Given the description of an element on the screen output the (x, y) to click on. 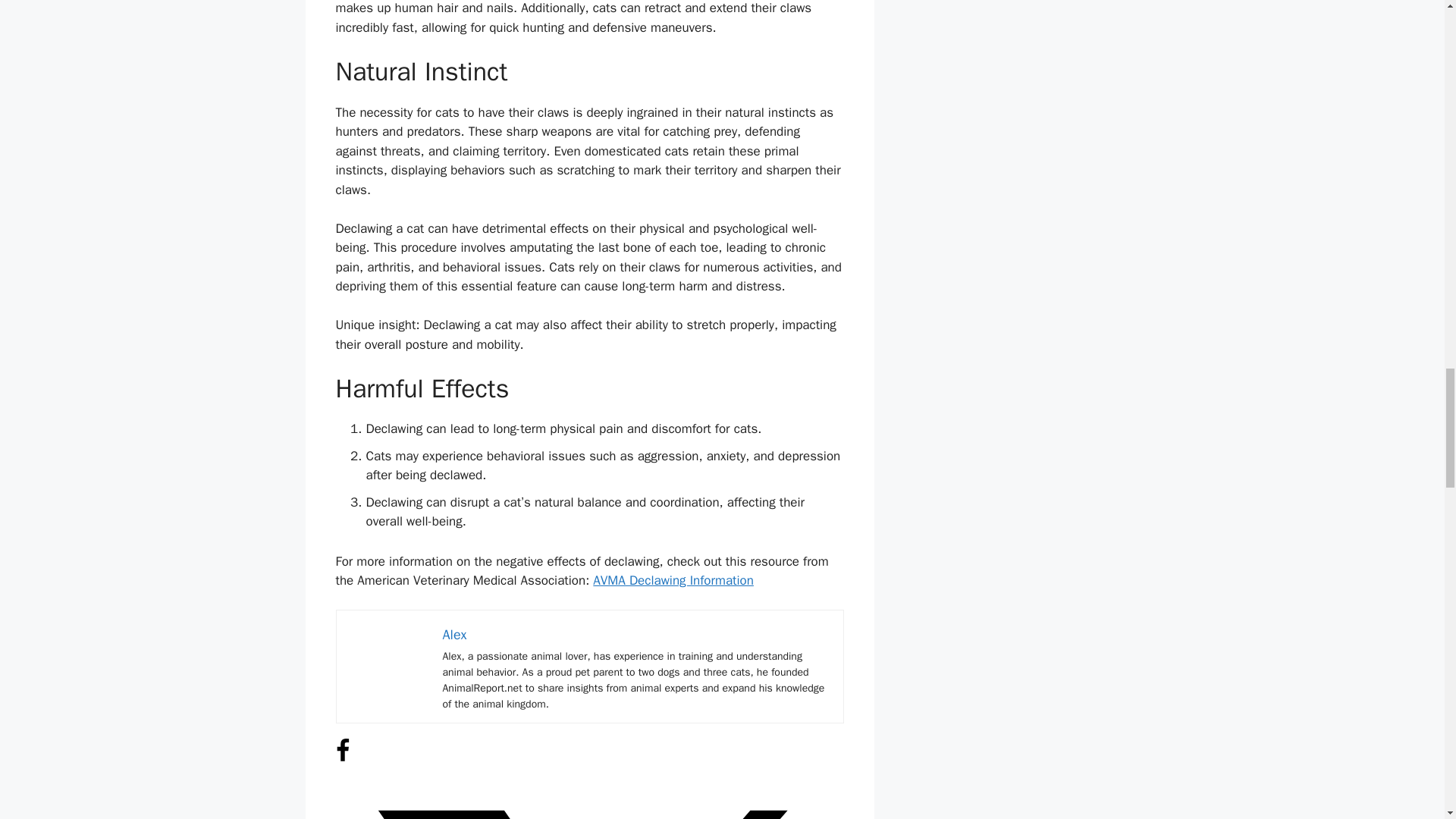
AVMA Declawing Information (673, 580)
Share on Facebook (341, 758)
